Given the description of an element on the screen output the (x, y) to click on. 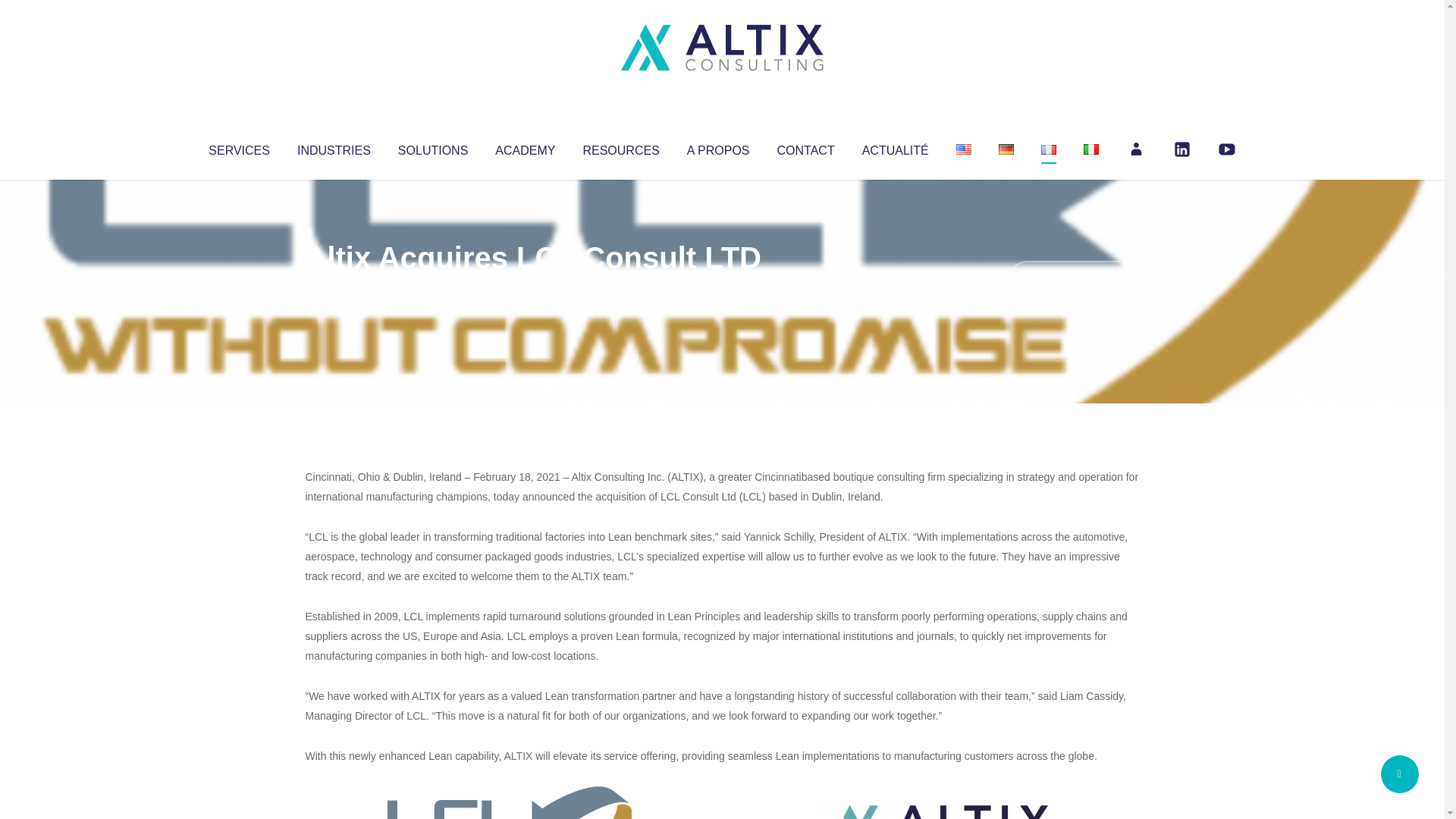
INDUSTRIES (334, 146)
Articles par Altix (333, 287)
A PROPOS (718, 146)
Uncategorized (530, 287)
SERVICES (238, 146)
No Comments (1073, 278)
Altix (333, 287)
SOLUTIONS (432, 146)
RESOURCES (620, 146)
ACADEMY (524, 146)
